Given the description of an element on the screen output the (x, y) to click on. 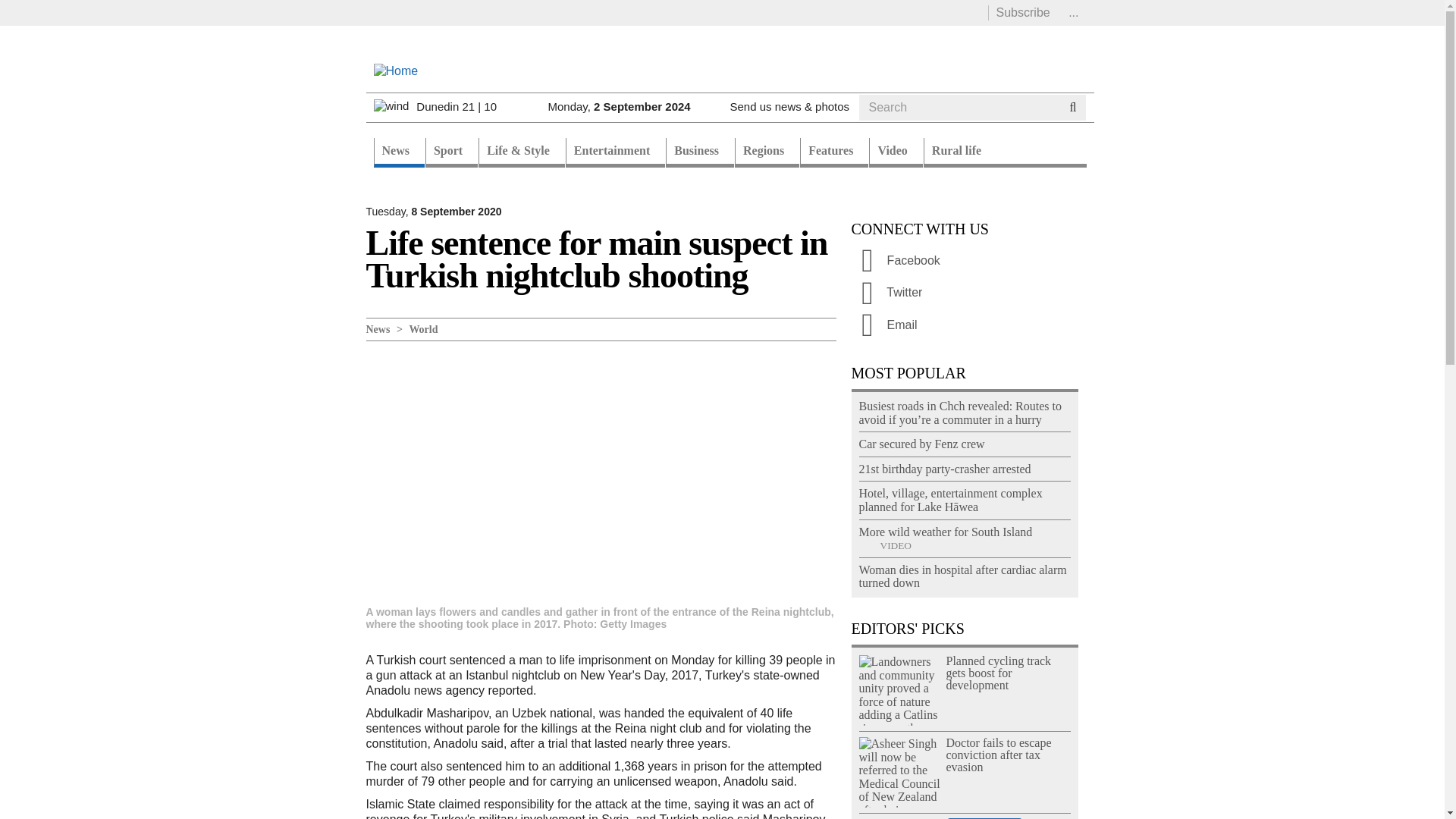
Sport (451, 152)
Home (394, 70)
Wind (390, 106)
Enter the terms you wish to search for. (959, 107)
News (397, 152)
Search (888, 125)
Subscribe (1022, 11)
